Given the description of an element on the screen output the (x, y) to click on. 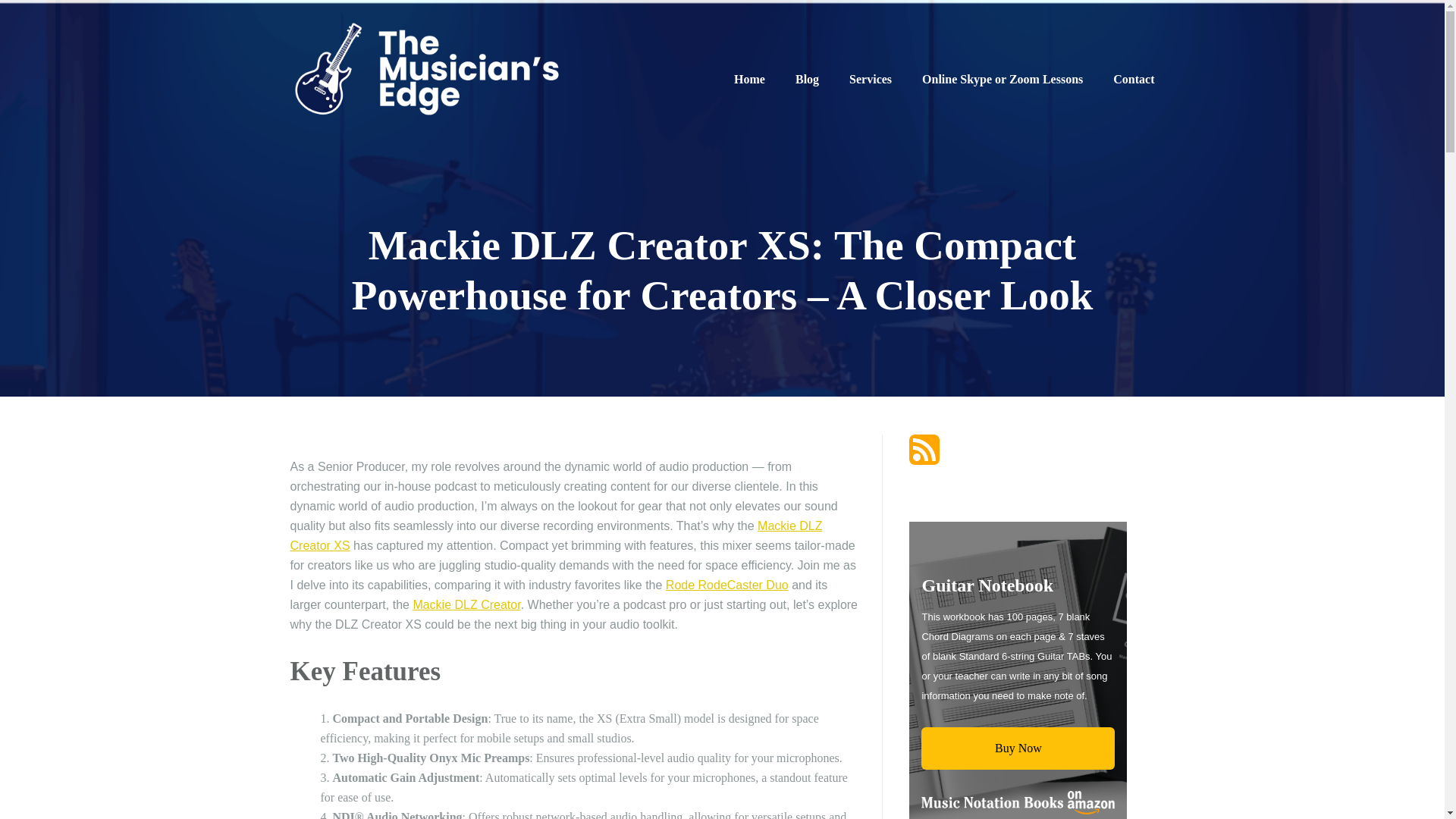
Subscribe to our RSS feed (923, 449)
Buy Now (1018, 748)
Rode RodeCaster Duo (727, 584)
Blog (806, 78)
Online Skype or Zoom Lessons (1002, 78)
Services (869, 78)
Contact (1133, 78)
The Musician's Edge (425, 71)
Mackie DLZ Creator (465, 604)
Mackie DLZ Creator XS (555, 535)
Home (749, 78)
